Given the description of an element on the screen output the (x, y) to click on. 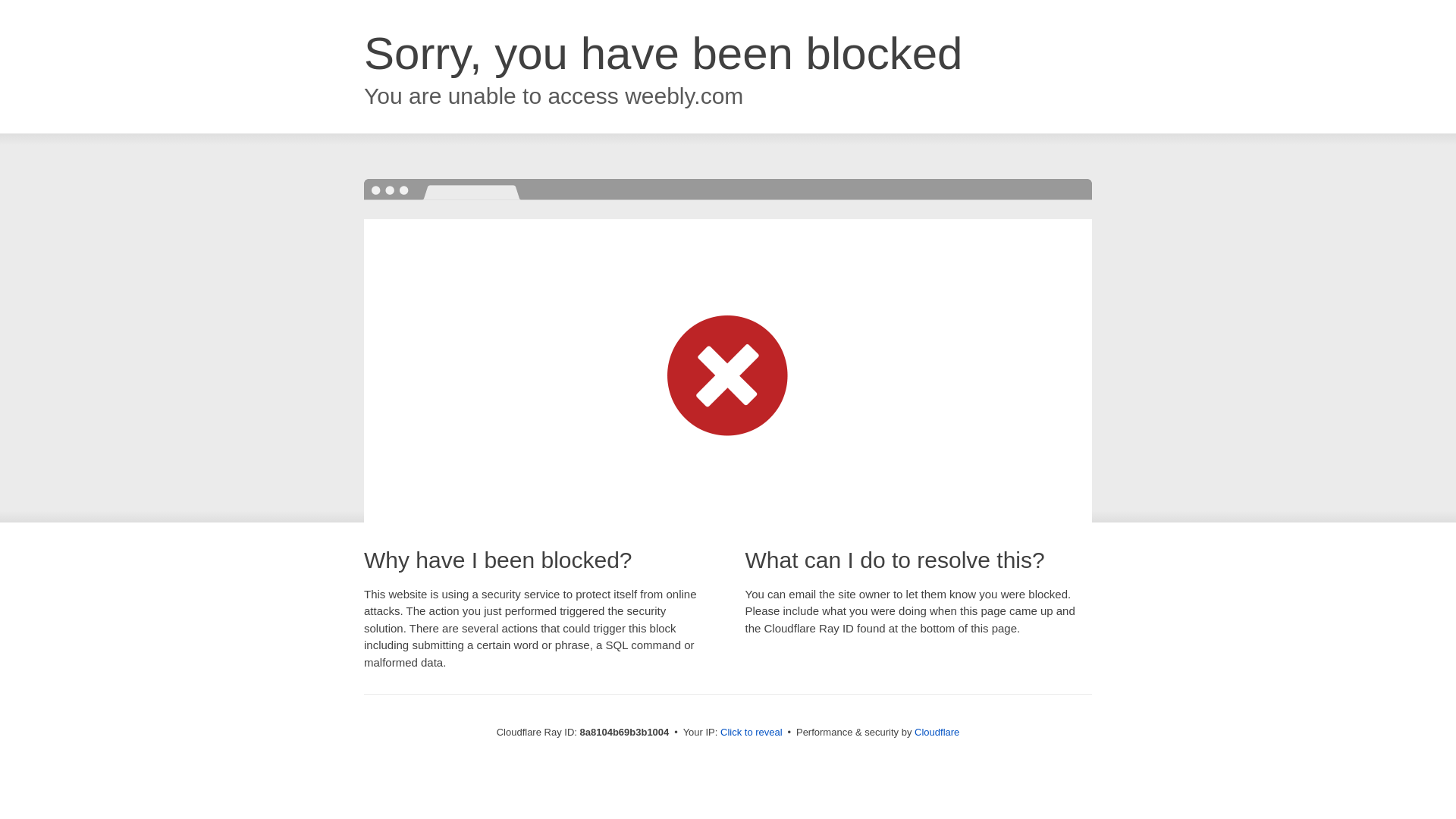
Cloudflare (936, 731)
Click to reveal (751, 732)
